Given the description of an element on the screen output the (x, y) to click on. 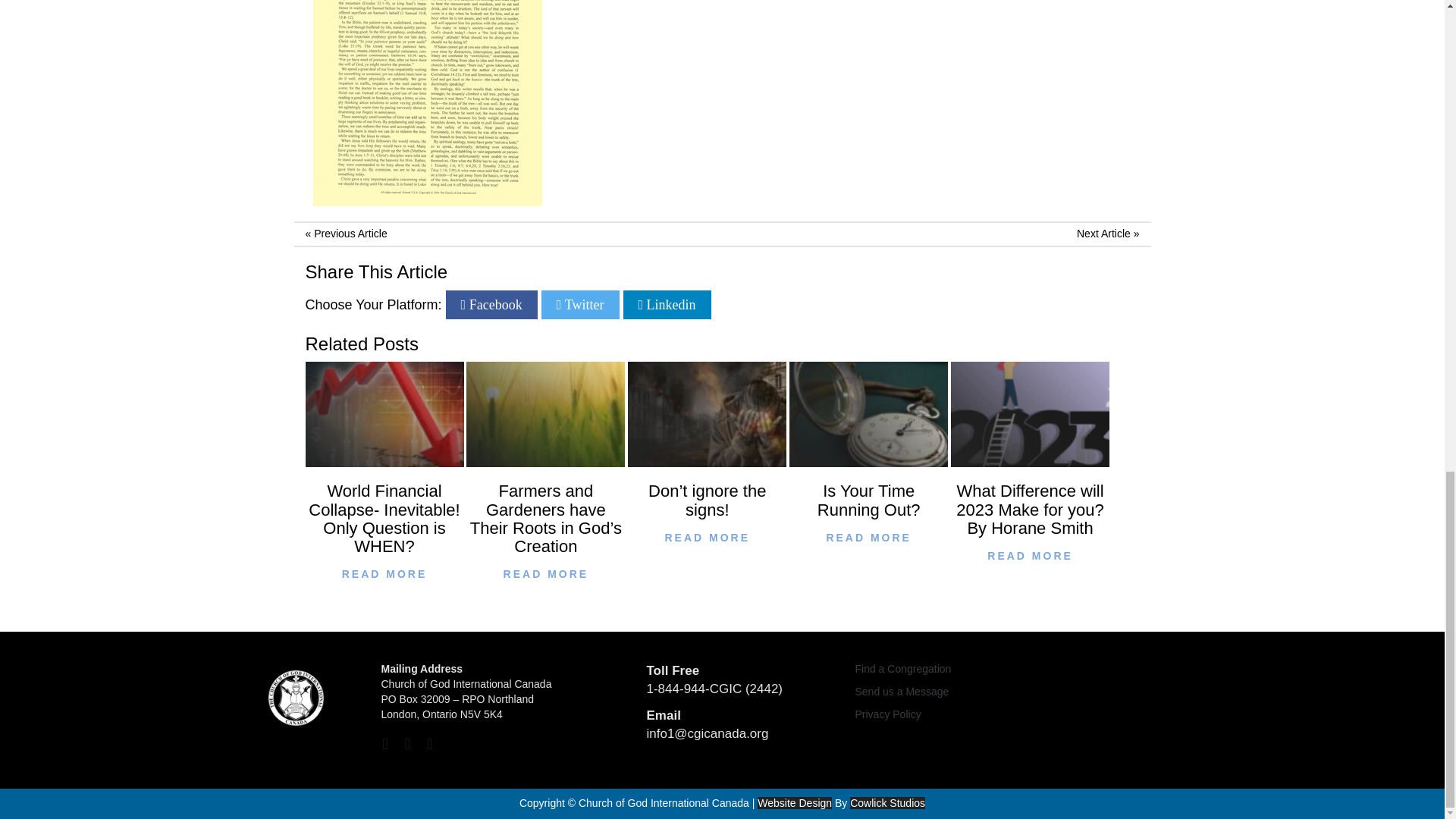
Next Article (1104, 233)
Previous Article (350, 233)
READ MORE (868, 538)
Linkedin (667, 304)
READ MORE (1029, 556)
READ MORE (706, 538)
READ MORE (544, 574)
Twitter (580, 304)
READ MORE (383, 574)
Facebook (491, 304)
